Given the description of an element on the screen output the (x, y) to click on. 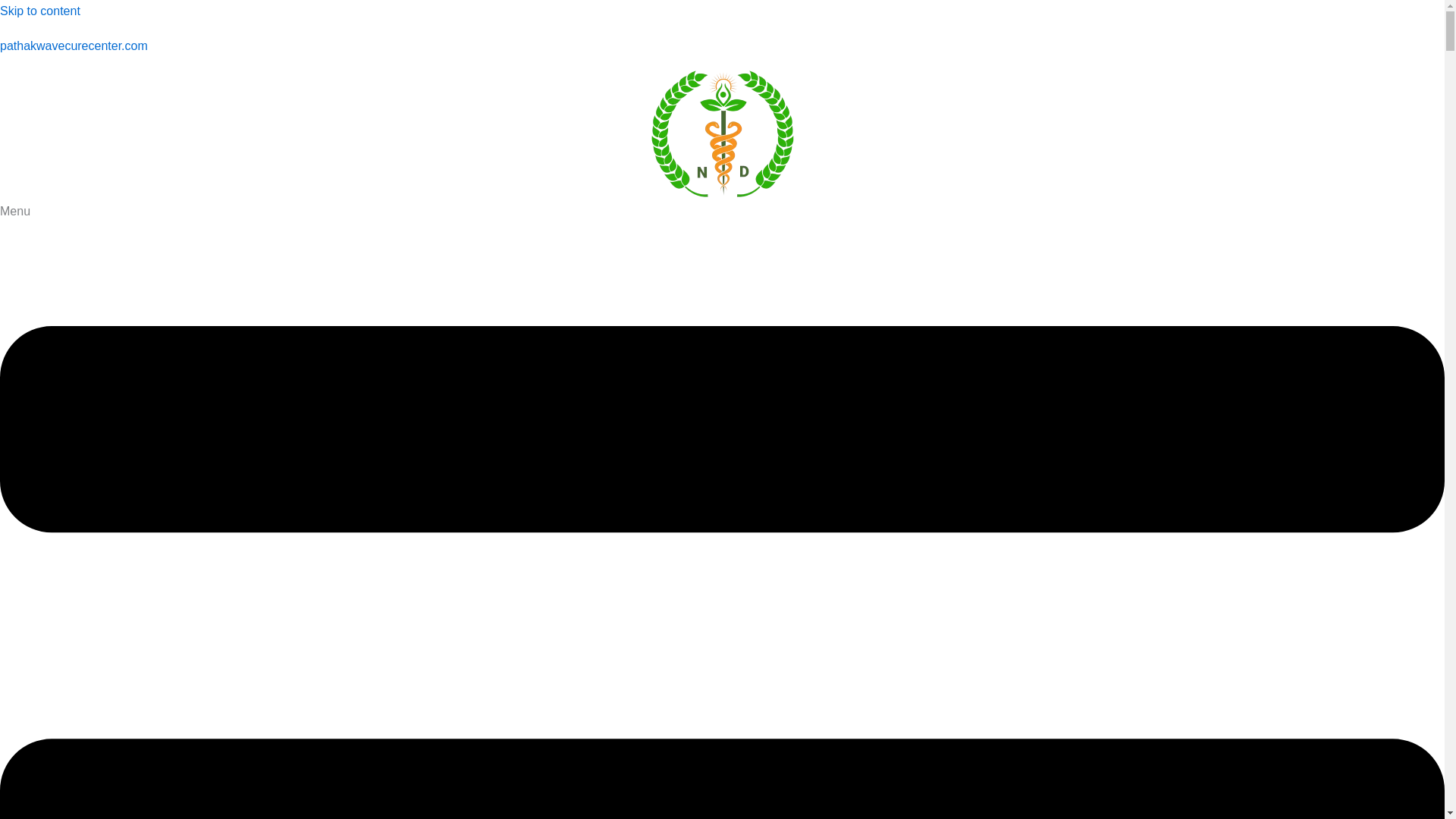
Skip to content (40, 10)
pathakwavecurecenter.com (74, 45)
pathakwavecurecenter.com (74, 45)
Skip to content (40, 10)
